Given the description of an element on the screen output the (x, y) to click on. 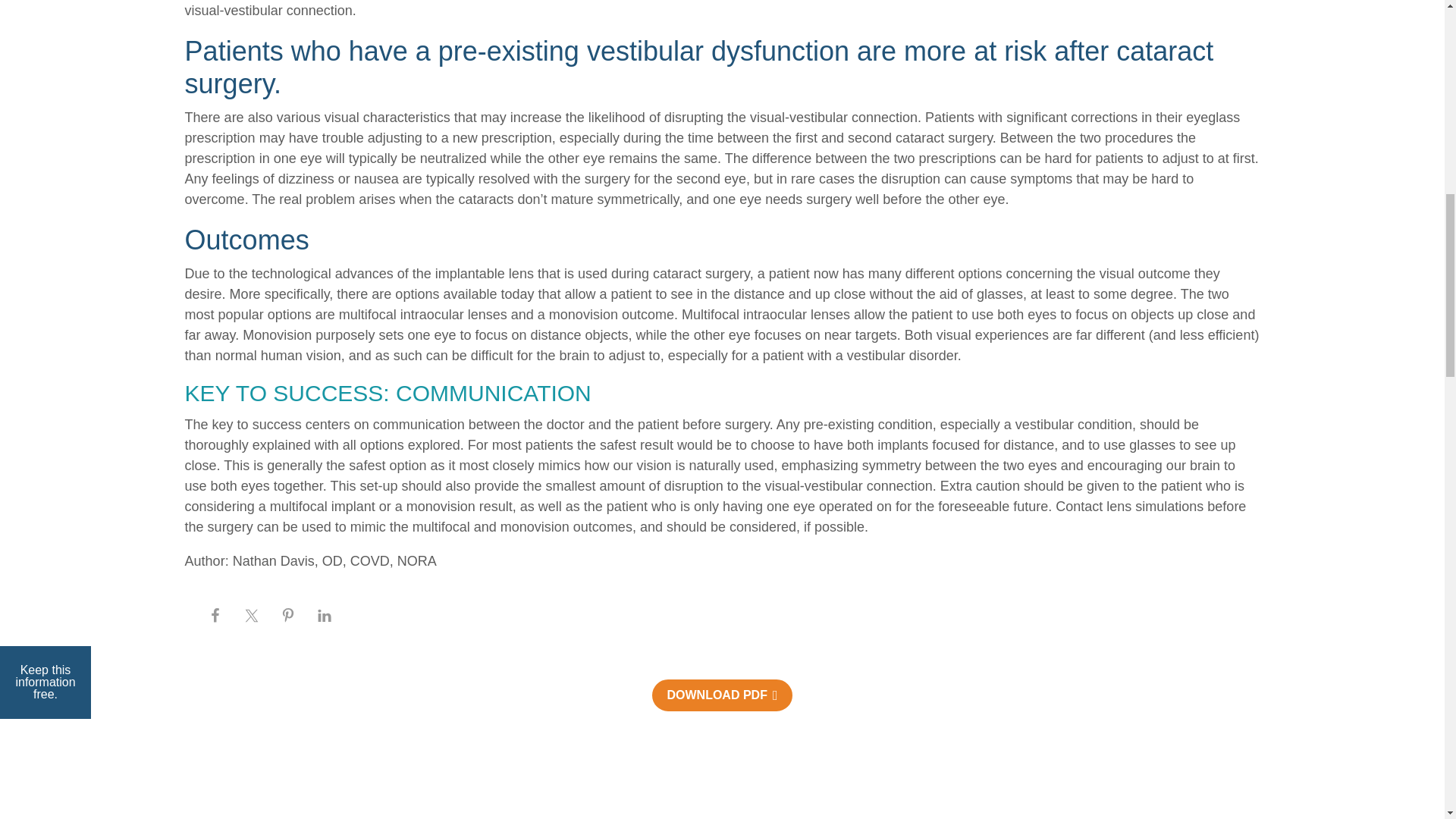
Share on LinkedIn (323, 615)
Share on Twitter (250, 615)
Share on Pinterest (287, 615)
DOWNLOAD PDF (722, 694)
Share on Facebook (214, 615)
